Given the description of an element on the screen output the (x, y) to click on. 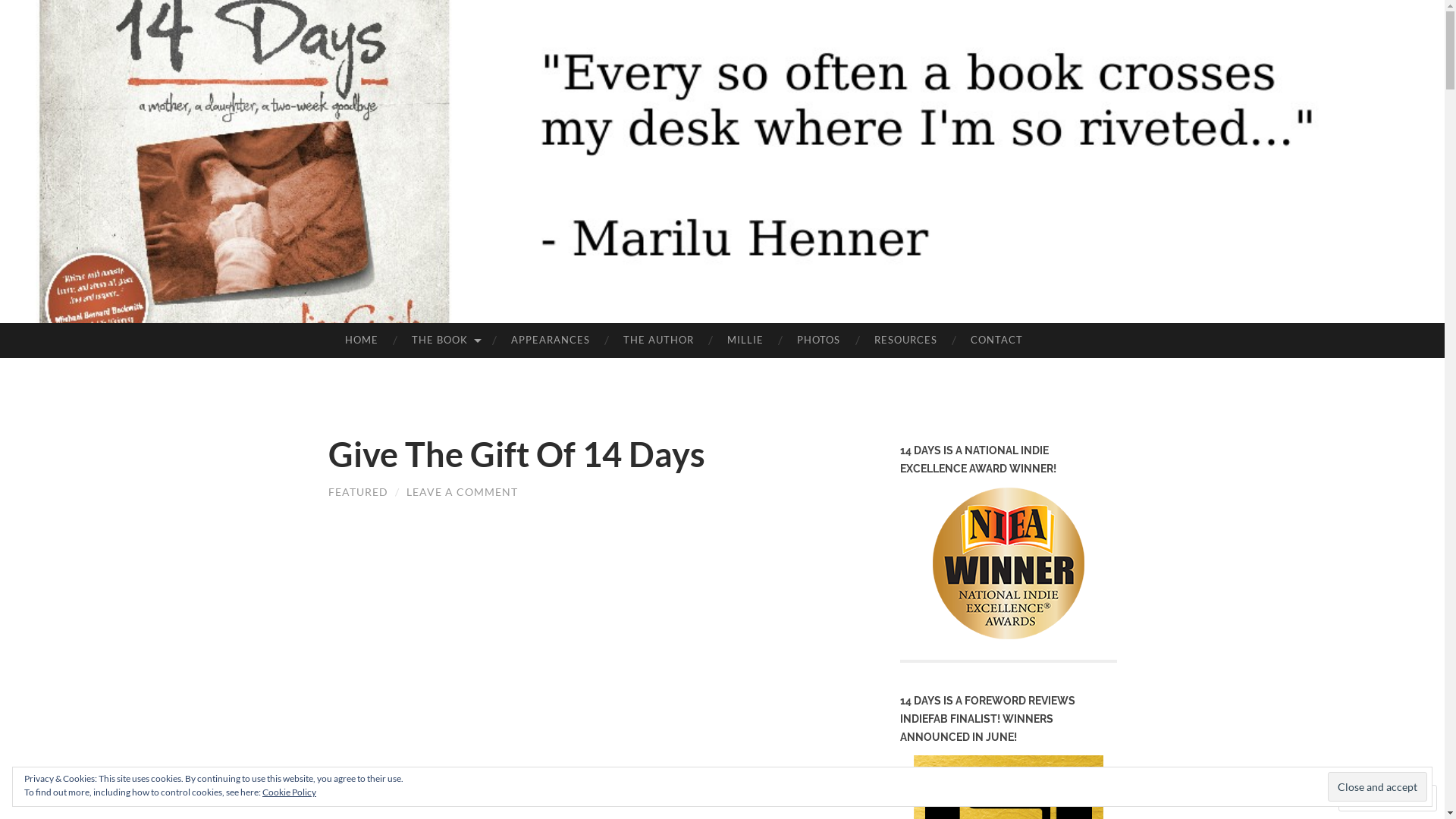
HOME Element type: text (360, 340)
LEAVE A COMMENT Element type: text (461, 491)
Cookie Policy Element type: text (289, 791)
Close and accept Element type: text (1377, 786)
THE BOOK Element type: text (444, 340)
14 DAYS Element type: text (768, 225)
MILLIE Element type: text (745, 340)
Follow Element type: text (1372, 797)
PHOTOS Element type: text (818, 340)
CONTACT Element type: text (996, 340)
Give The Gift Of 14 Days Element type: text (515, 453)
APPEARANCES Element type: text (550, 340)
THE AUTHOR Element type: text (658, 340)
RESOURCES Element type: text (905, 340)
